Given the description of an element on the screen output the (x, y) to click on. 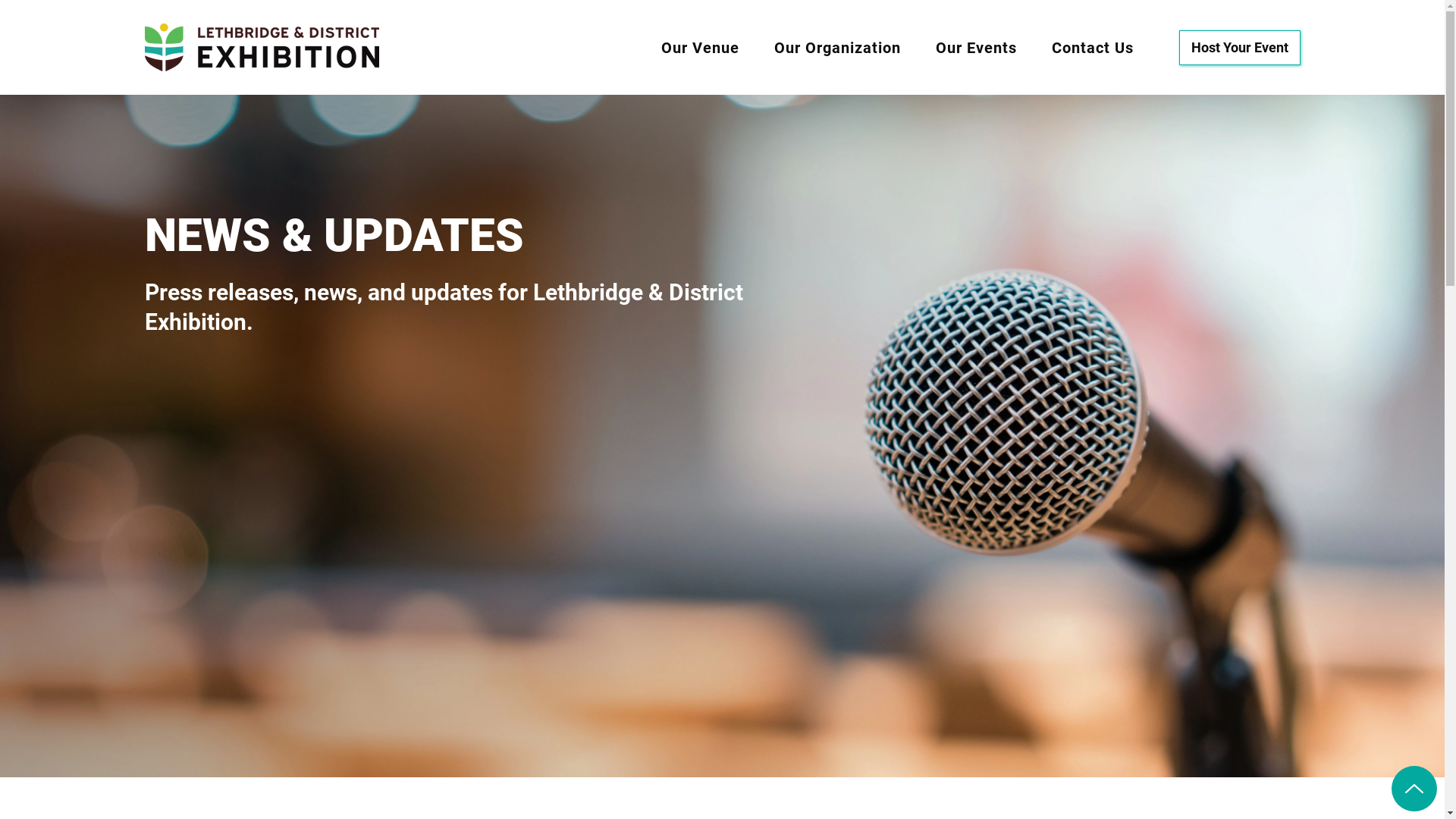
Contact Us Element type: text (1091, 47)
Our Organization Element type: text (836, 47)
Host Your Event Element type: text (1238, 47)
Our Venue Element type: text (699, 47)
Our Events Element type: text (976, 47)
